Given the description of an element on the screen output the (x, y) to click on. 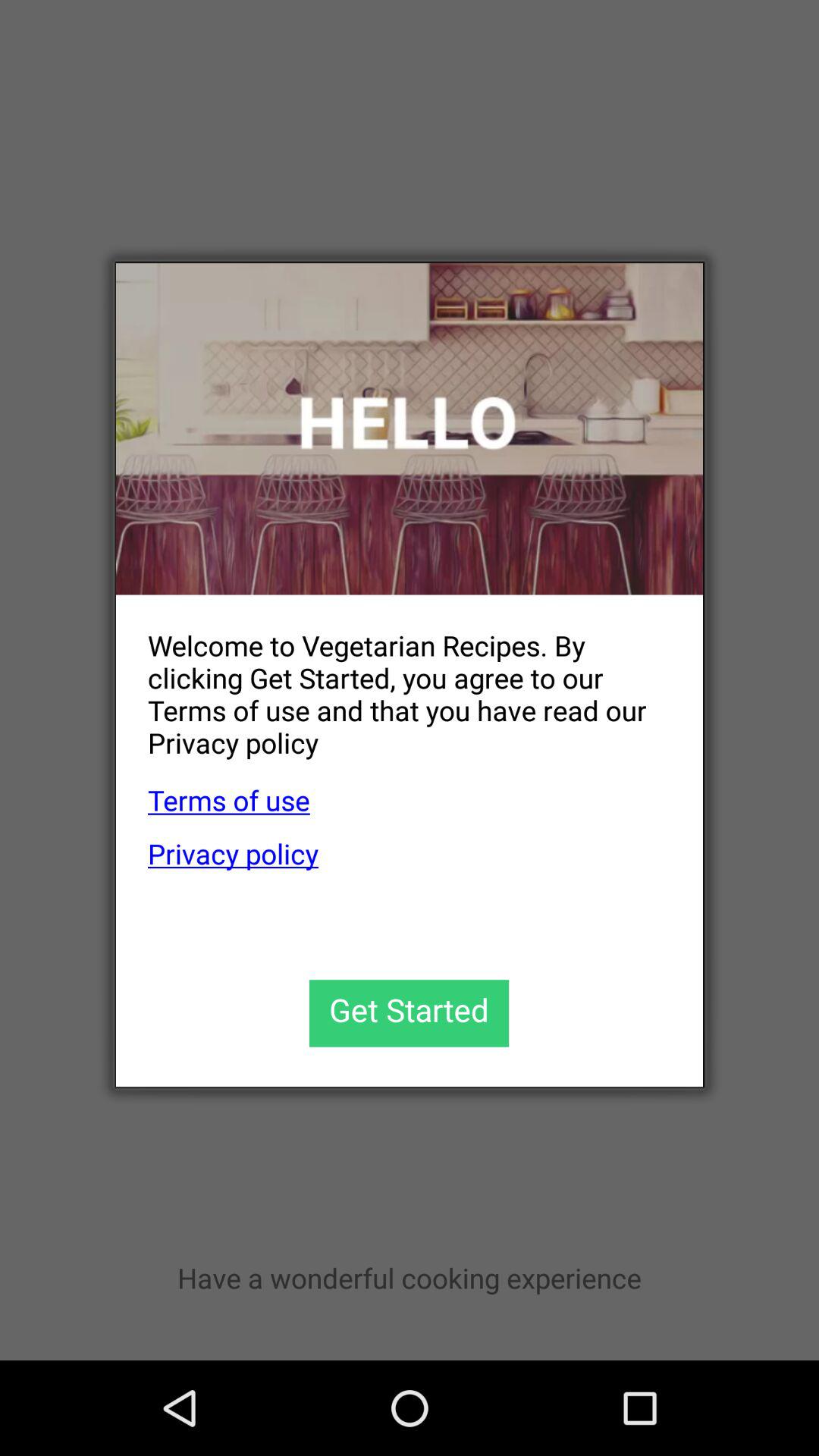
get started (409, 1013)
